Given the description of an element on the screen output the (x, y) to click on. 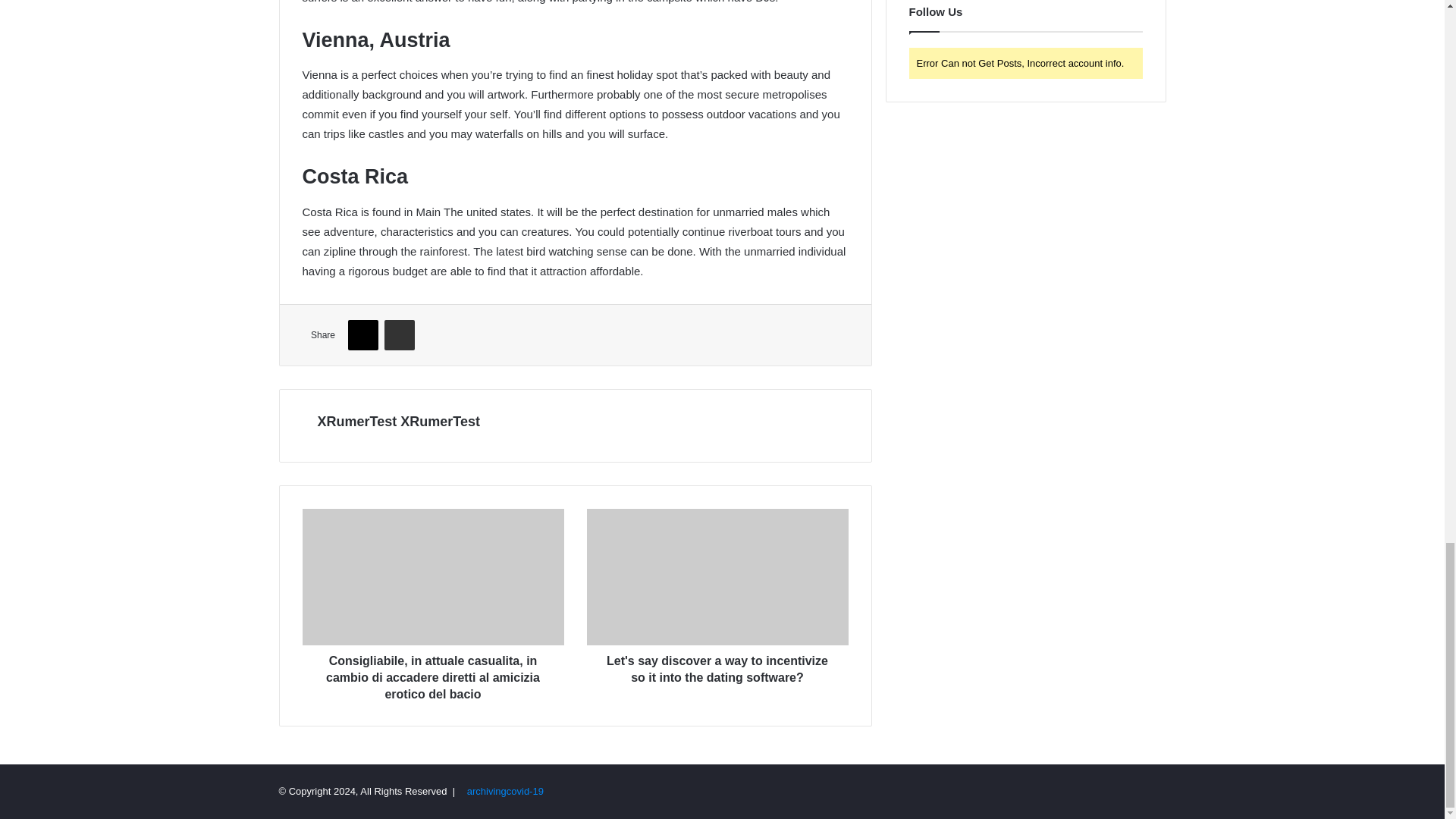
Share via Email (399, 335)
X (362, 335)
XRumerTest XRumerTest (398, 421)
X (362, 335)
Share via Email (399, 335)
